Given the description of an element on the screen output the (x, y) to click on. 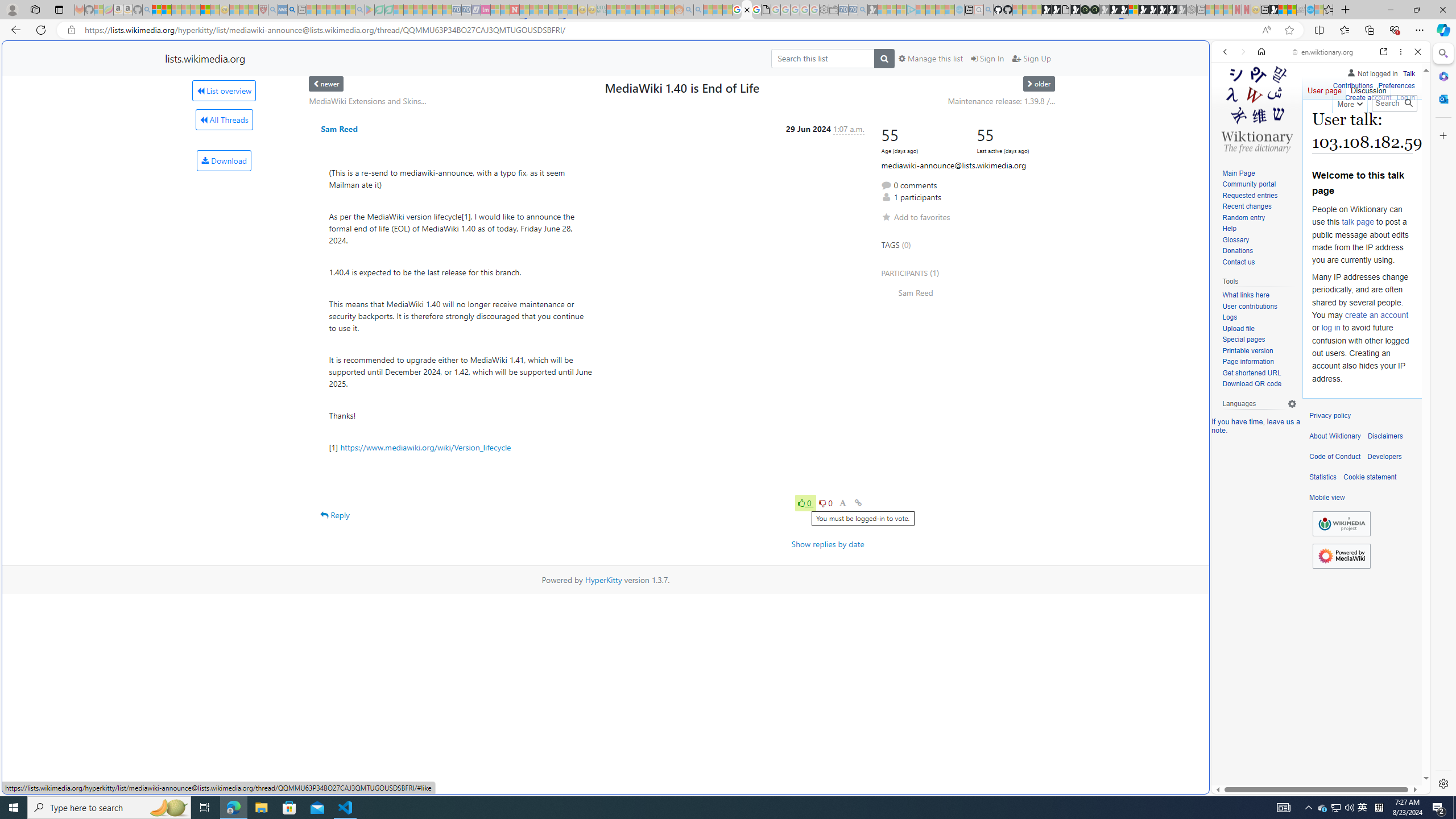
Search Wiktionary (1393, 103)
